Given the description of an element on the screen output the (x, y) to click on. 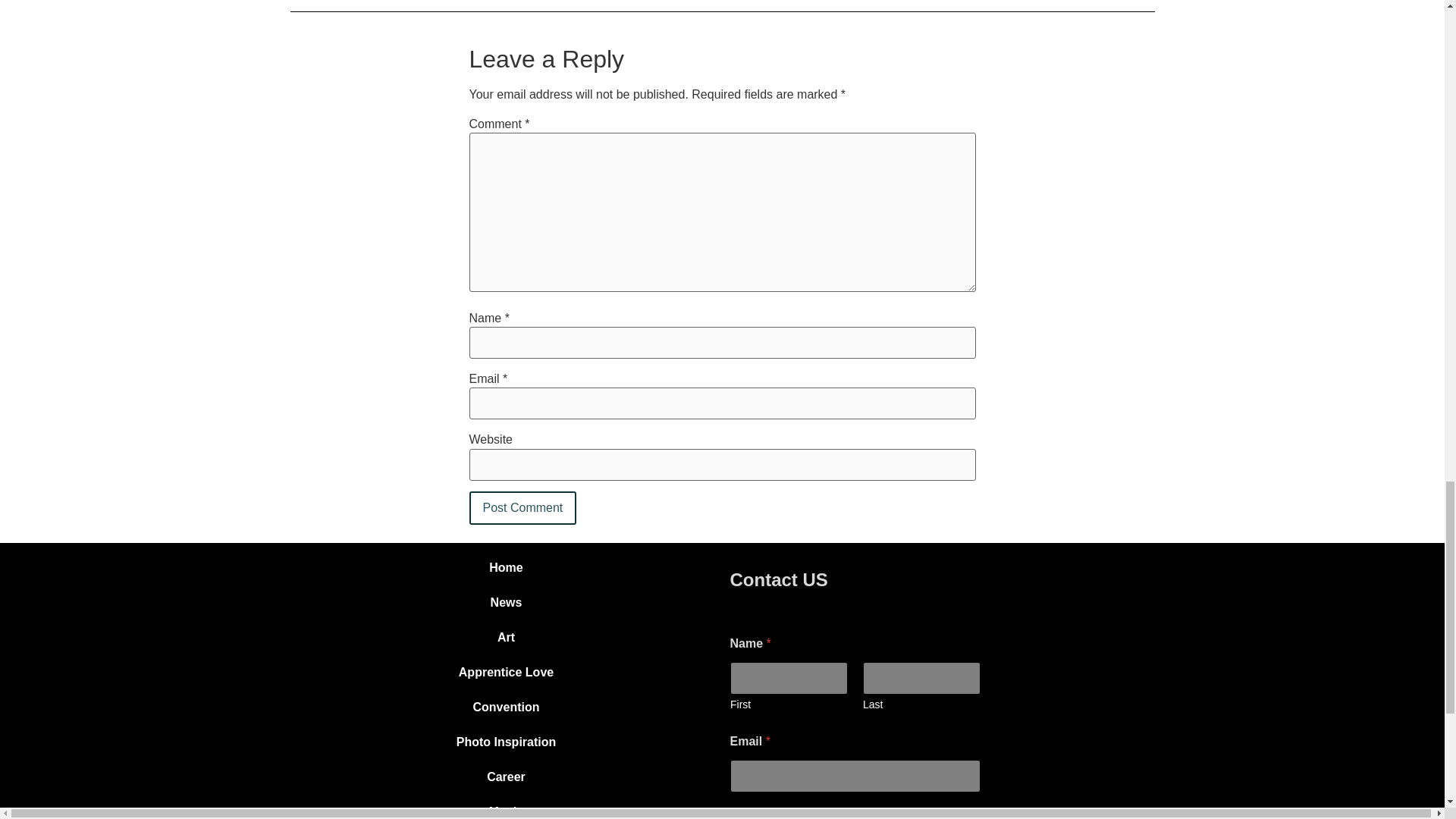
News (505, 602)
Apprentice Love (505, 672)
Art (505, 637)
Music (505, 806)
Photo Inspiration (505, 742)
Post Comment (522, 507)
Career (505, 777)
Home (505, 567)
Post Comment (522, 507)
Convention (505, 707)
